Given the description of an element on the screen output the (x, y) to click on. 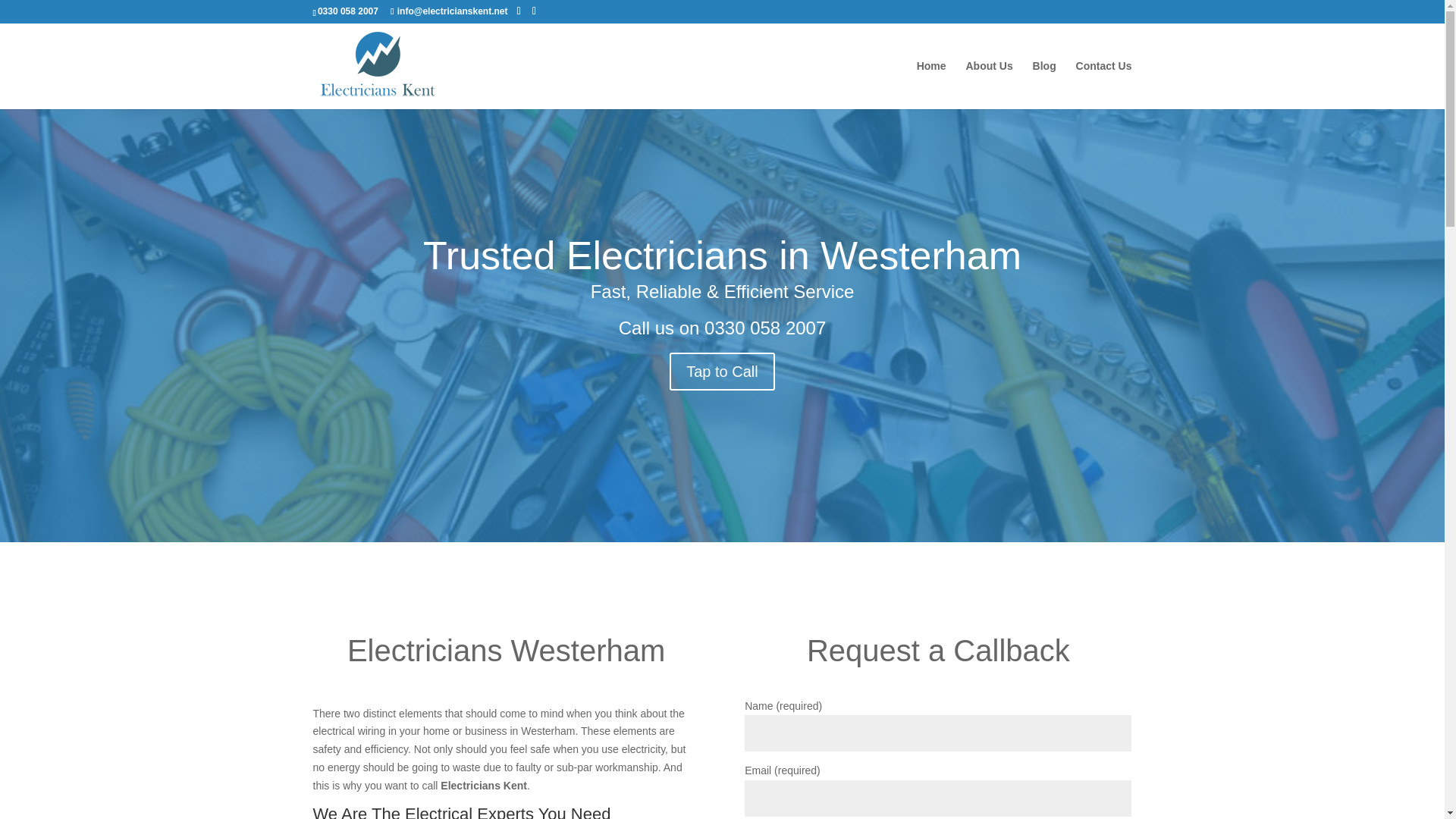
0330 058 2007 (764, 327)
Tap to Call (721, 371)
About Us (988, 84)
Contact Us (1103, 84)
